Given the description of an element on the screen output the (x, y) to click on. 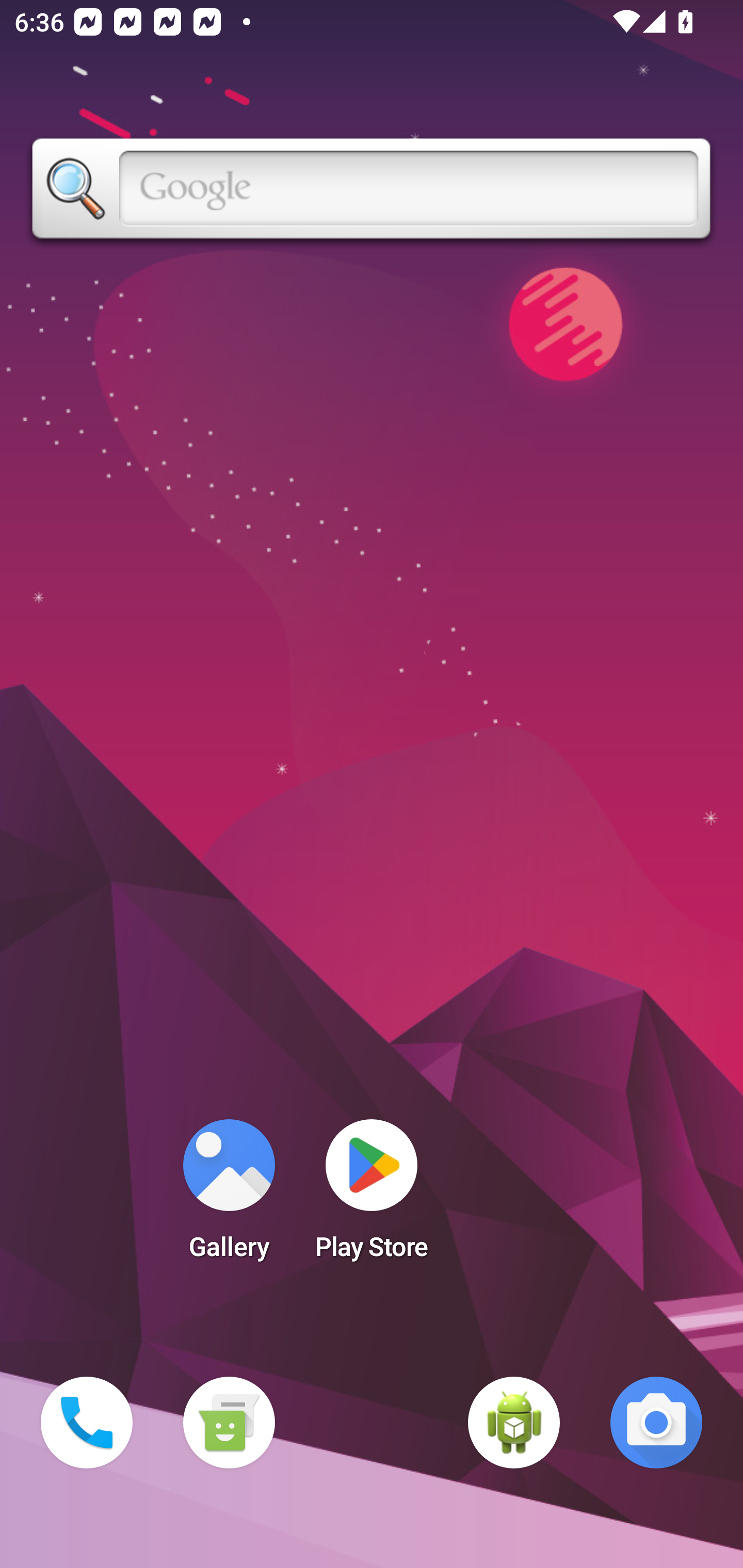
Gallery (228, 1195)
Play Store (371, 1195)
Phone (86, 1422)
Messaging (228, 1422)
WebView Browser Tester (513, 1422)
Camera (656, 1422)
